Given the description of an element on the screen output the (x, y) to click on. 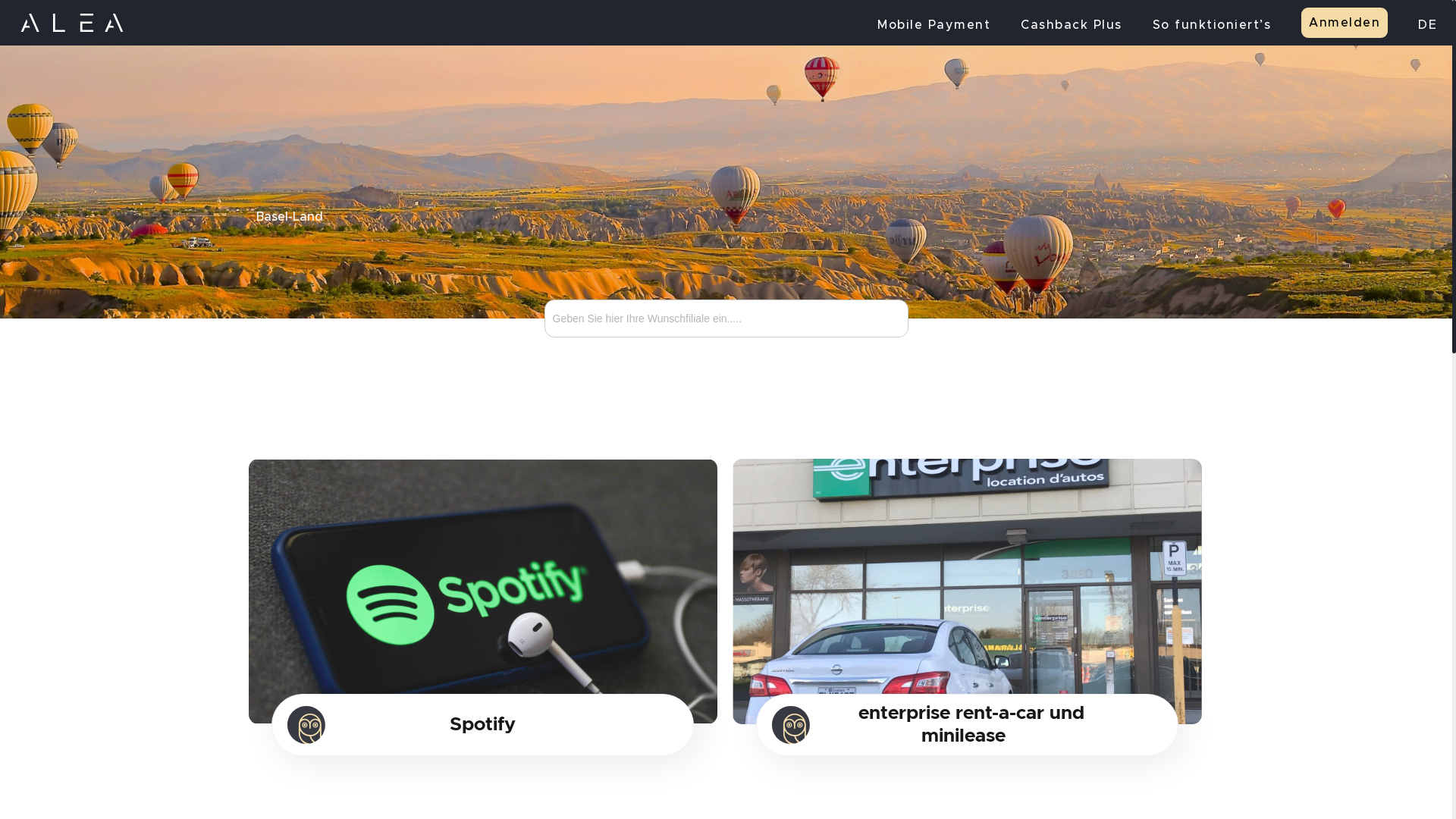
Mobile Payment Element type: text (933, 29)
Cashback Plus Element type: text (1071, 29)
enterprise rent-a-car und minilease Element type: text (967, 724)
spotify-app-clubhouse Element type: hover (483, 591)
enterprise-rent-a-car alea Element type: hover (966, 591)
Spotify Element type: text (482, 724)
Anmelden Element type: text (1344, 22)
DE Element type: text (1427, 29)
